Given the description of an element on the screen output the (x, y) to click on. 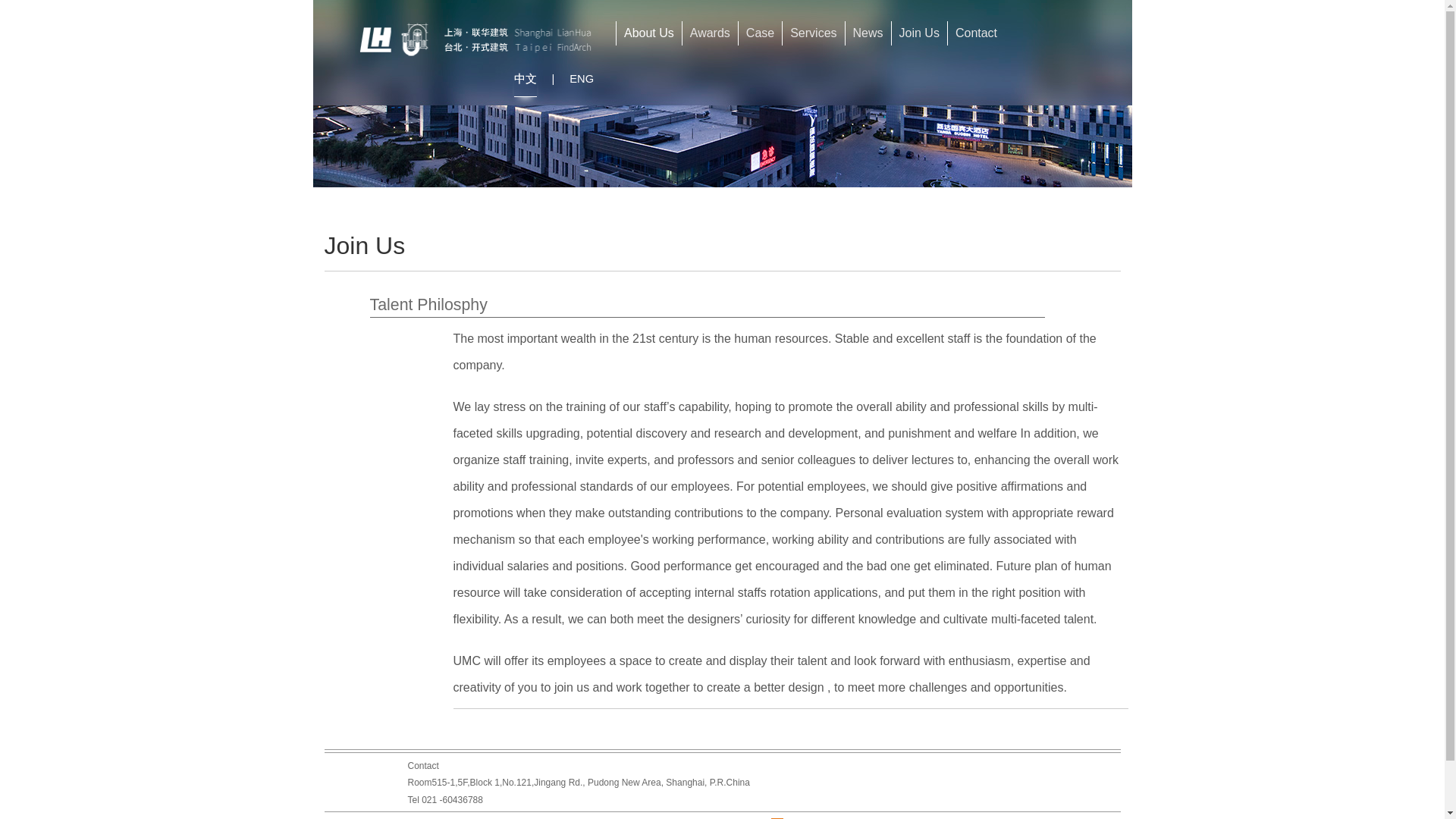
About Us (648, 33)
News (868, 33)
Join Us (919, 33)
Contact (975, 33)
Services (813, 33)
Awards (710, 33)
ENG (581, 78)
Case (759, 33)
